Given the description of an element on the screen output the (x, y) to click on. 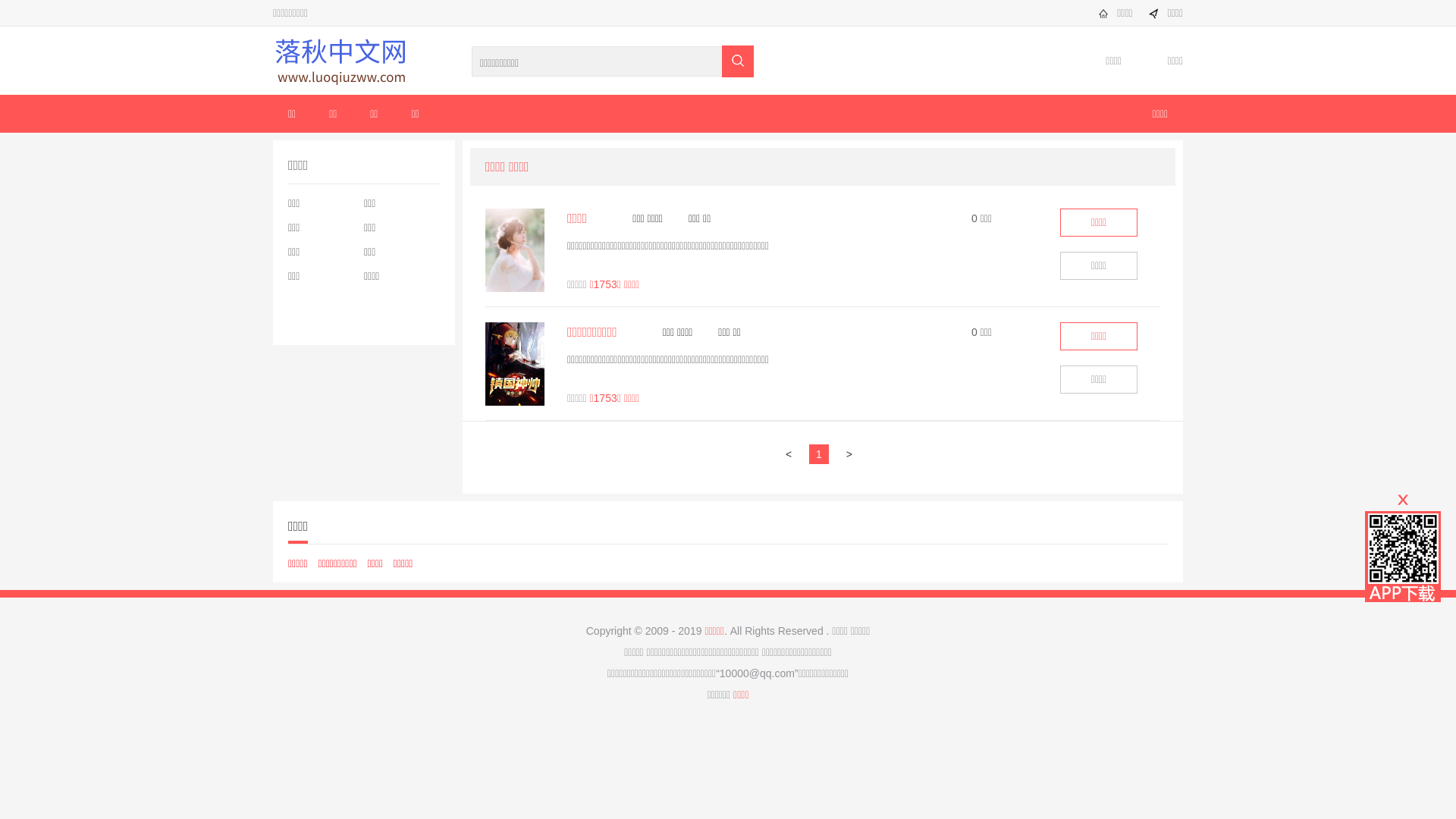
< Element type: text (792, 454)
> Element type: text (852, 454)
1 Element type: text (824, 454)
